Given the description of an element on the screen output the (x, y) to click on. 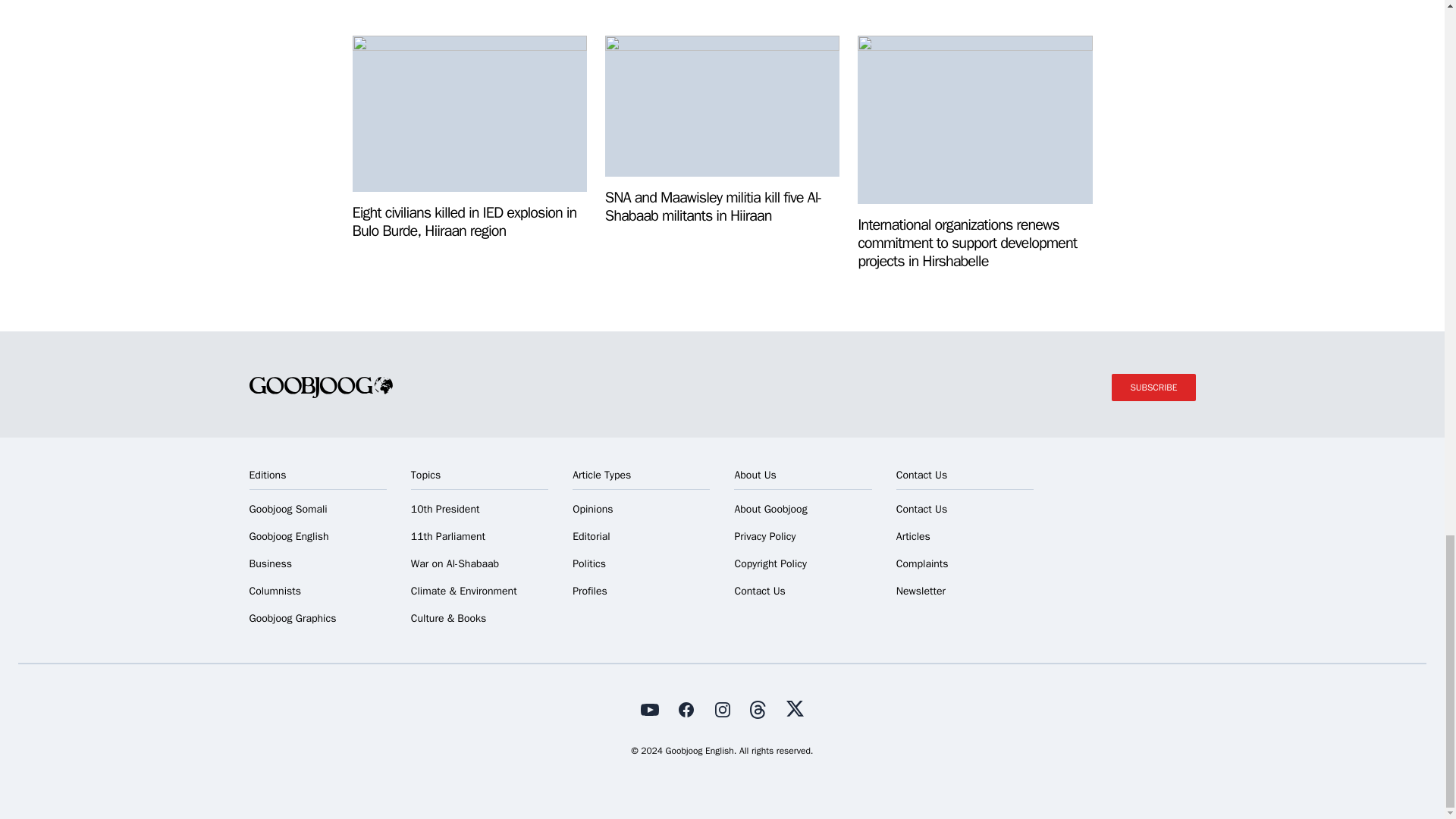
Goobjoog English (316, 536)
Goobjoog Graphics (316, 618)
Goobjoog Somali (316, 509)
Business (316, 564)
Columnists (316, 591)
SUBSCRIBE (1153, 387)
